Given the description of an element on the screen output the (x, y) to click on. 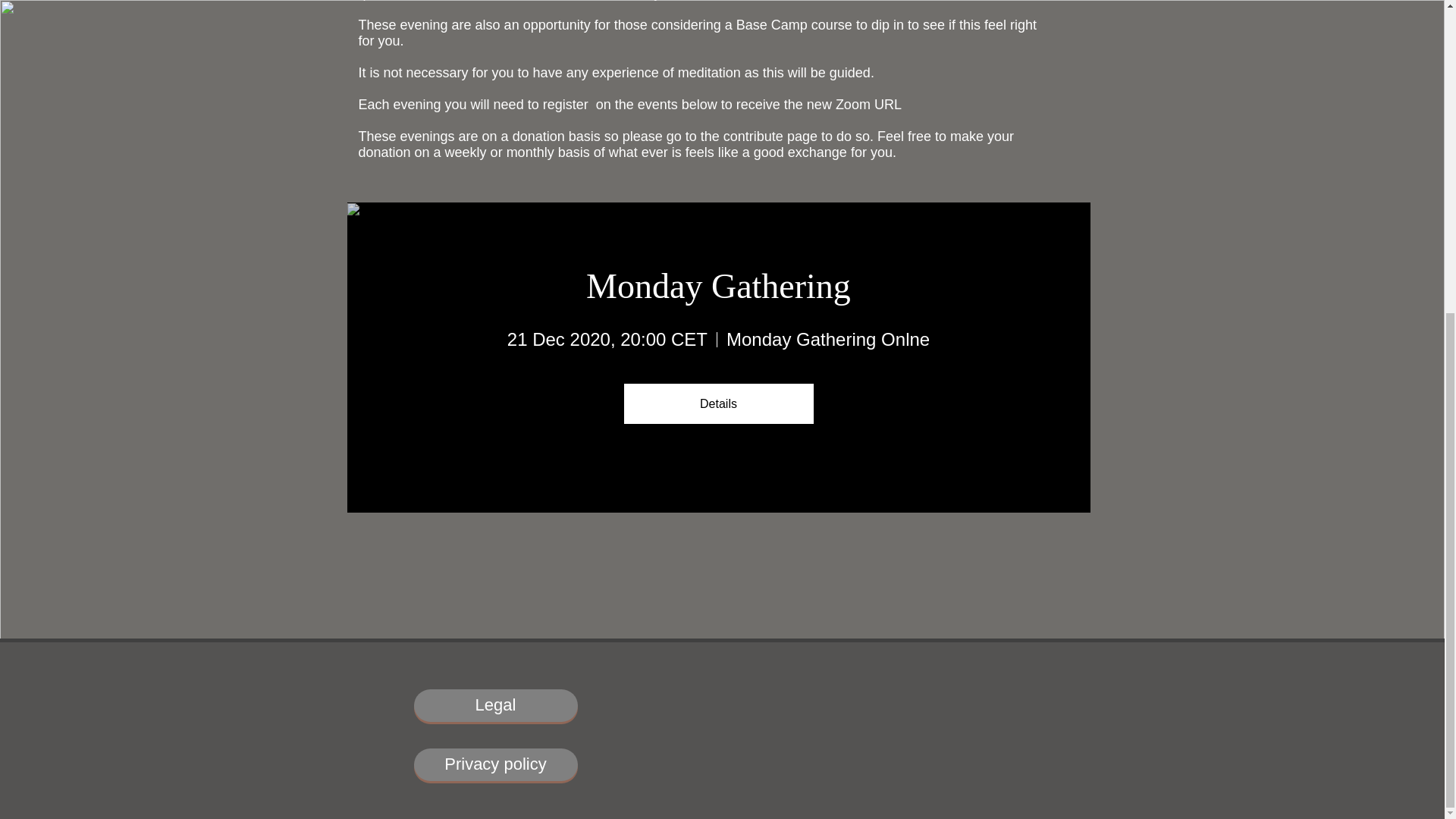
Privacy policy (495, 764)
Monday Gathering (718, 285)
Legal (495, 705)
Details (717, 404)
